Given the description of an element on the screen output the (x, y) to click on. 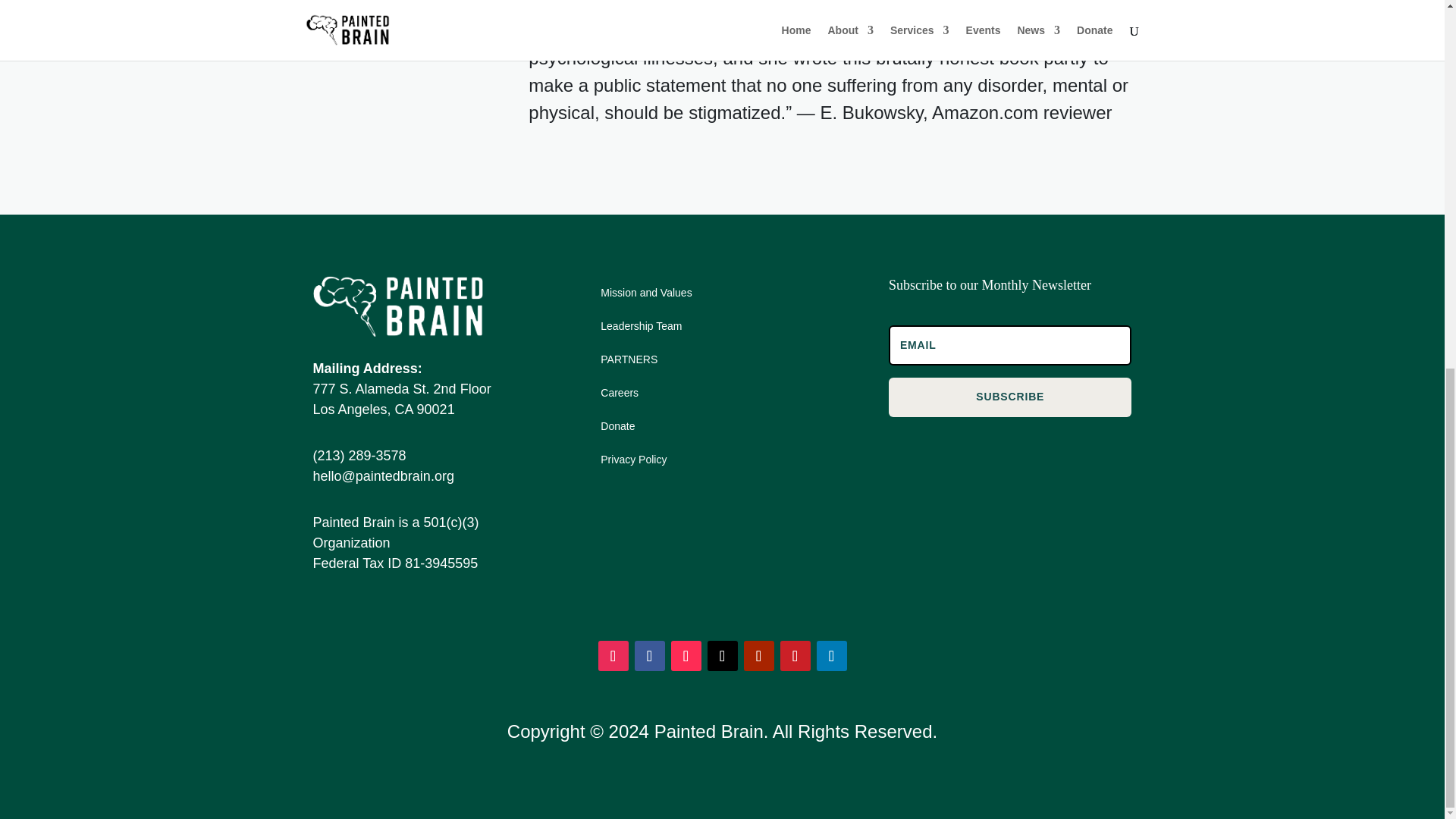
Donate (616, 429)
PARTNERS (628, 361)
Follow on TikTok (684, 655)
Leadership Team (640, 329)
Follow on X (721, 655)
Follow on Instagram (611, 655)
Follow on Facebook (648, 655)
Careers (619, 395)
Mission and Values (645, 295)
Follow on Pinterest (793, 655)
Privacy Policy (632, 461)
painted-brain-logo2 (397, 306)
Follow on Youtube (757, 655)
Follow on LinkedIn (830, 655)
